Given the description of an element on the screen output the (x, y) to click on. 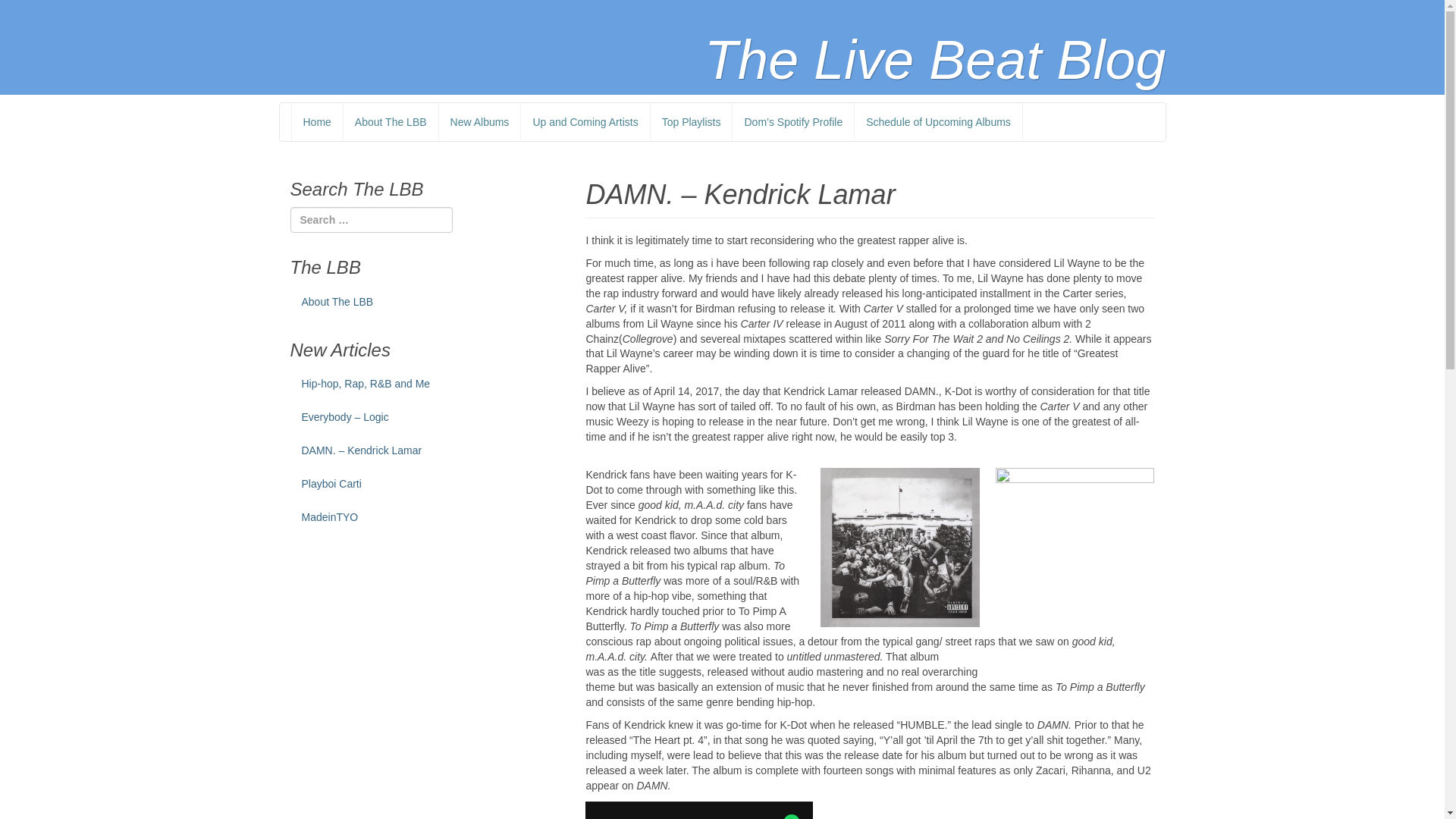
Top Playlists (690, 121)
MadeinTYO (425, 517)
About The LBB (425, 302)
Playboi Carti (425, 484)
Schedule of Upcoming Albums (937, 121)
Up and Coming Artists (584, 121)
About The LBB (390, 121)
Home (316, 121)
New Albums (479, 121)
Top Playlists (690, 121)
Home (316, 121)
Up and Coming Artists (584, 121)
Schedule of Upcoming Albums (937, 121)
Search for: (370, 219)
New Albums (479, 121)
